Given the description of an element on the screen output the (x, y) to click on. 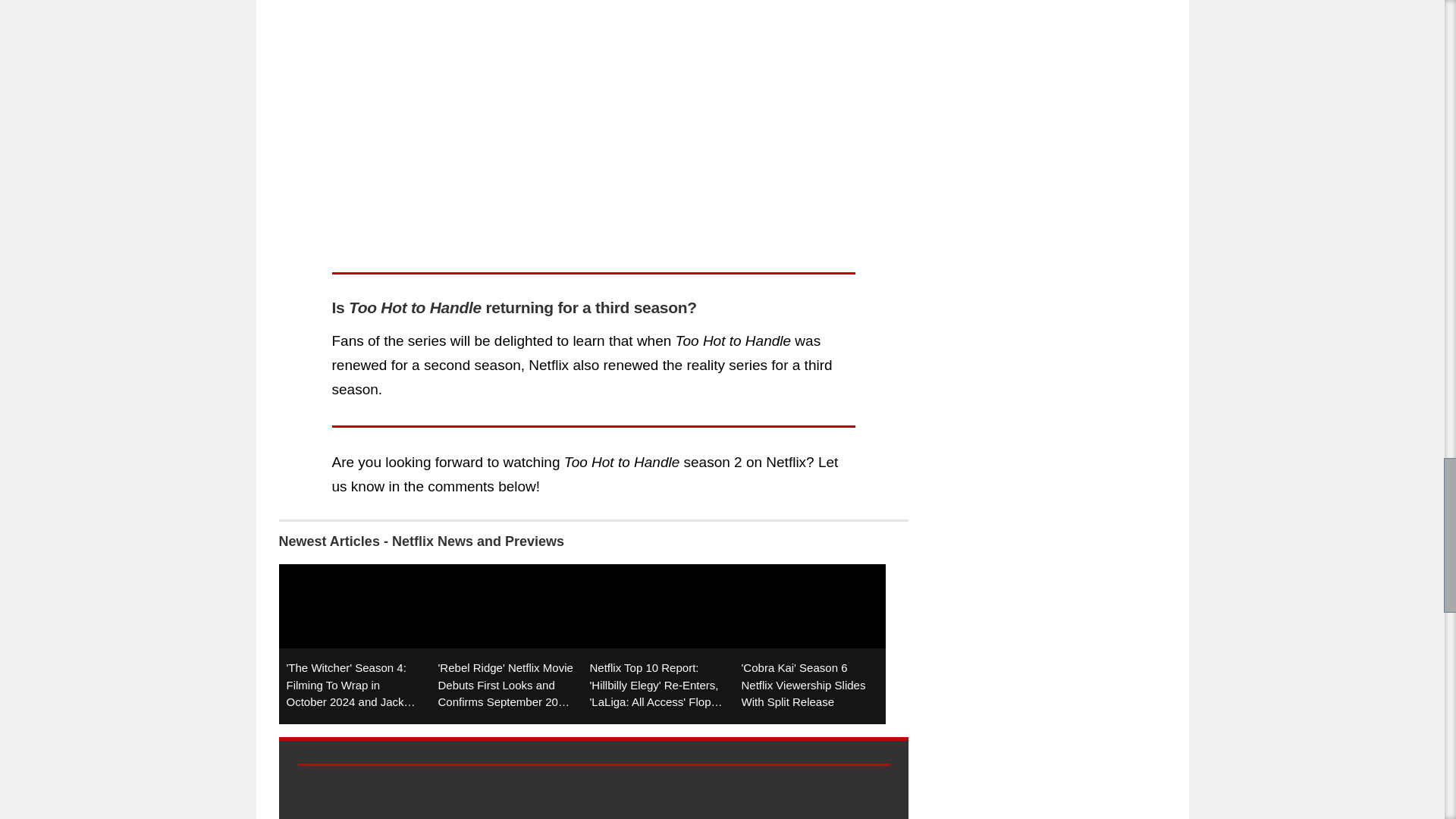
Netflix Too Hot To Handle Season 2 Cast Posters Copy (593, 120)
